Given the description of an element on the screen output the (x, y) to click on. 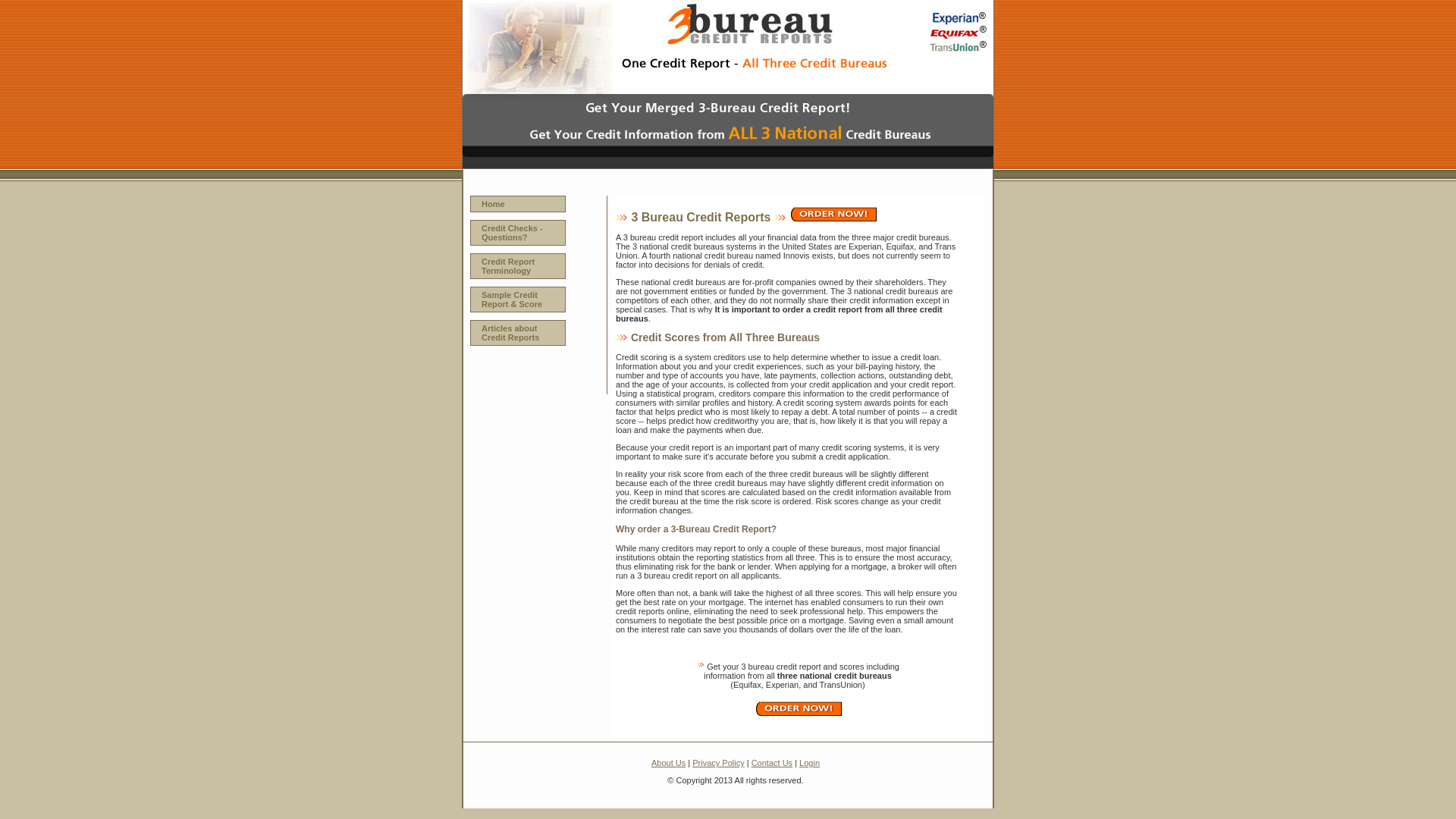
Credit Report
Terminology Element type: text (517, 266)
Privacy Policy Element type: text (717, 762)
Home Element type: text (517, 203)
Credit Checks - Questions? Element type: text (517, 232)
Login Element type: text (809, 762)
Sample Credit Report & Score Element type: text (517, 299)
Articles about Credit Reports Element type: text (517, 332)
Contact Us Element type: text (771, 762)
About Us Element type: text (668, 762)
